Given the description of an element on the screen output the (x, y) to click on. 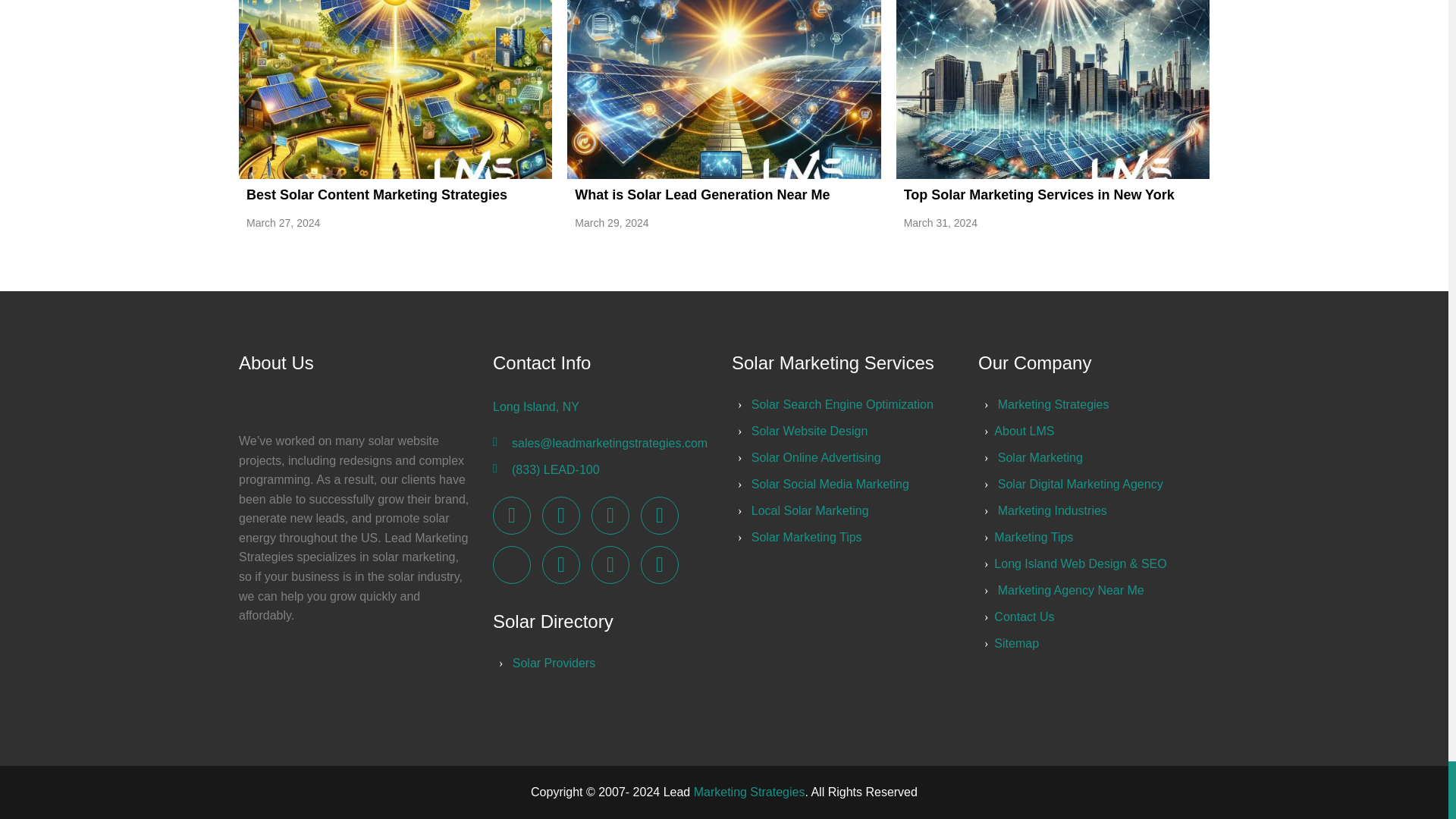
Lead Marketing Strategies (659, 564)
Lead Marketing Strategies (560, 514)
Lead Marketing Strategies (609, 514)
Lead Marketing Strategies (609, 564)
Lead Marketing Strategies (659, 514)
Solar Marketing Tips (806, 536)
Lead Marketing Strategies (512, 514)
Reputation Management (815, 457)
SEO Copywriting (829, 483)
Lead Marketing Strategies (560, 564)
Local Solar Marketing (810, 510)
Lead Marketing Strategies (1053, 404)
Search Engine Optimization (842, 404)
PPC Advertising (809, 431)
